Given the description of an element on the screen output the (x, y) to click on. 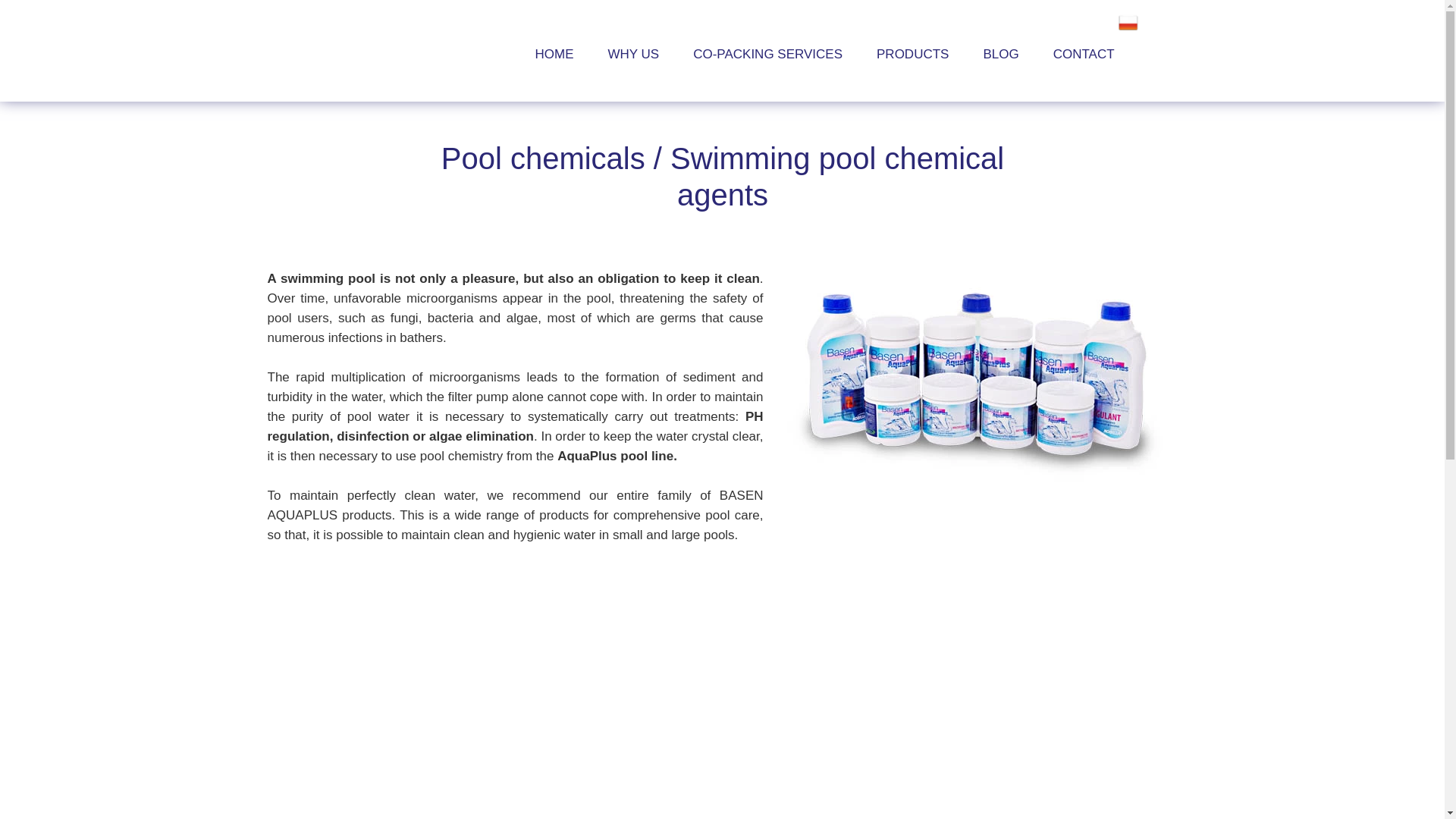
WHY US (633, 54)
PRODUCTS (912, 54)
CO-PACKING SERVICES (767, 54)
BLOG (1000, 54)
CONTACT (1083, 54)
HOME (554, 54)
